Given the description of an element on the screen output the (x, y) to click on. 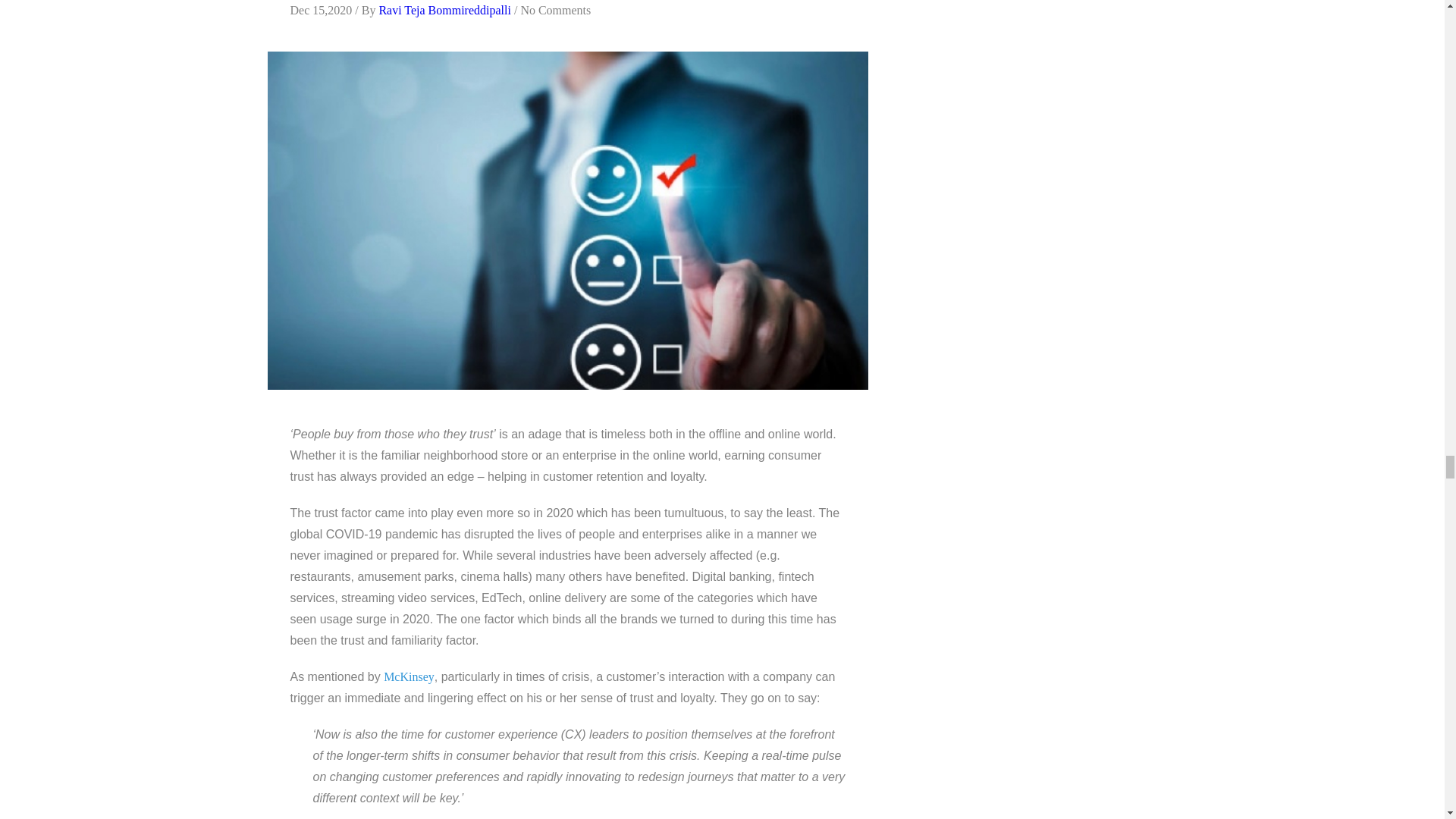
Posts by Ravi Teja Bommireddipalli (444, 10)
